Given the description of an element on the screen output the (x, y) to click on. 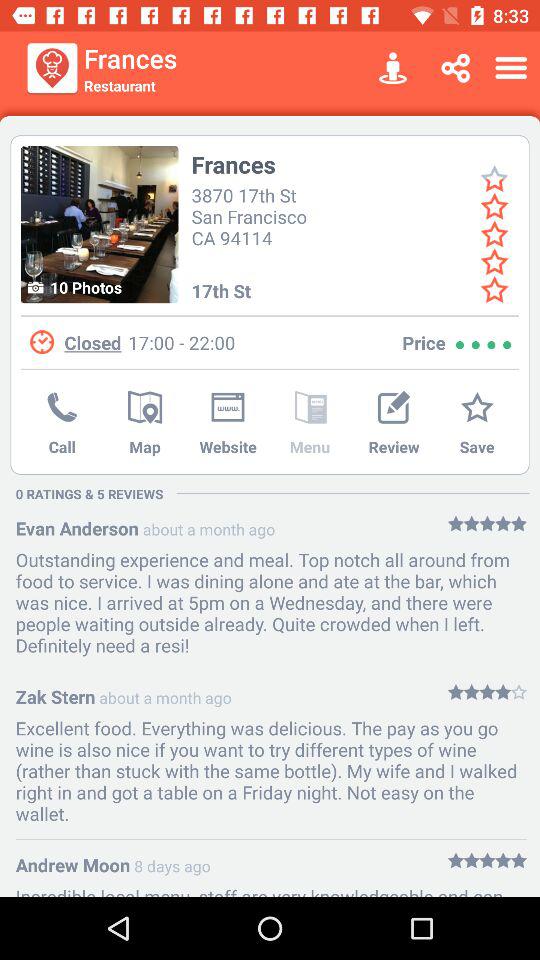
turn on 3870 17th st item (251, 214)
